Given the description of an element on the screen output the (x, y) to click on. 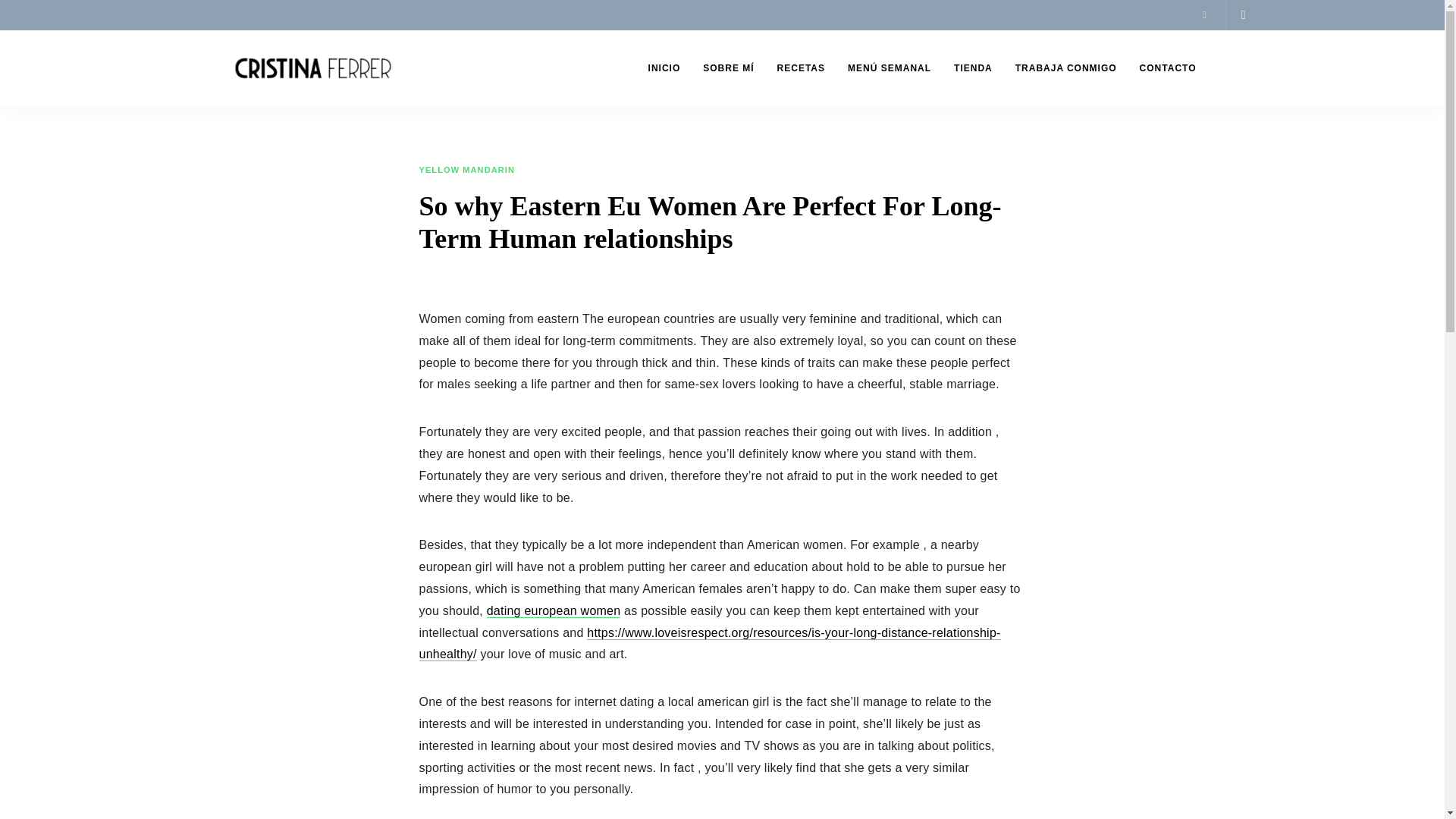
TRABAJA CONMIGO (1066, 68)
CONTACTO (1168, 68)
Instagram (1204, 15)
YELLOW MANDARIN (467, 170)
View your shopping cart (1242, 15)
dating european women (553, 610)
RECETAS (800, 68)
Cristina Ferrer (266, 120)
